Given the description of an element on the screen output the (x, y) to click on. 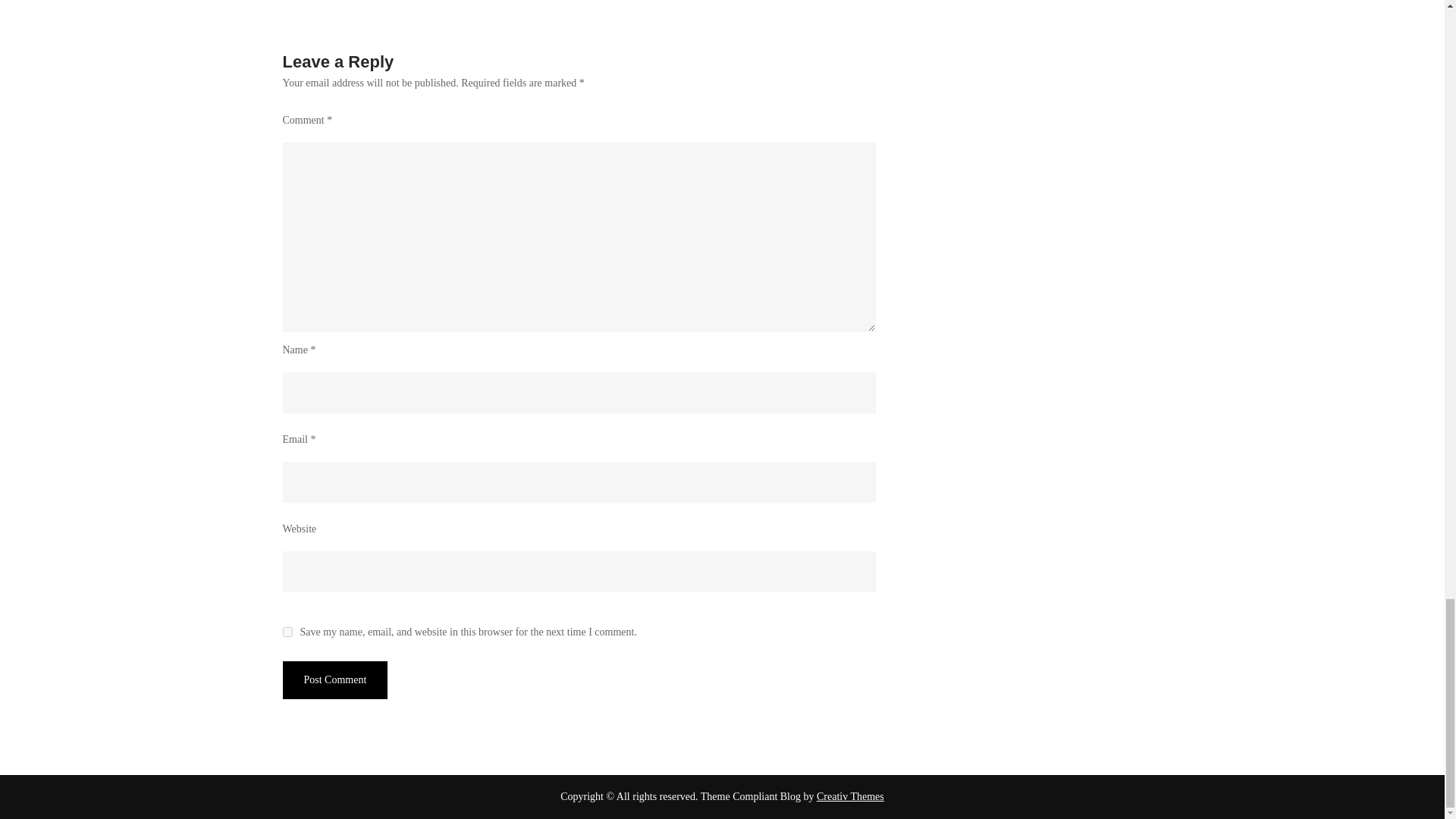
Post Comment (334, 679)
Post Comment (334, 679)
yes (287, 632)
